Given the description of an element on the screen output the (x, y) to click on. 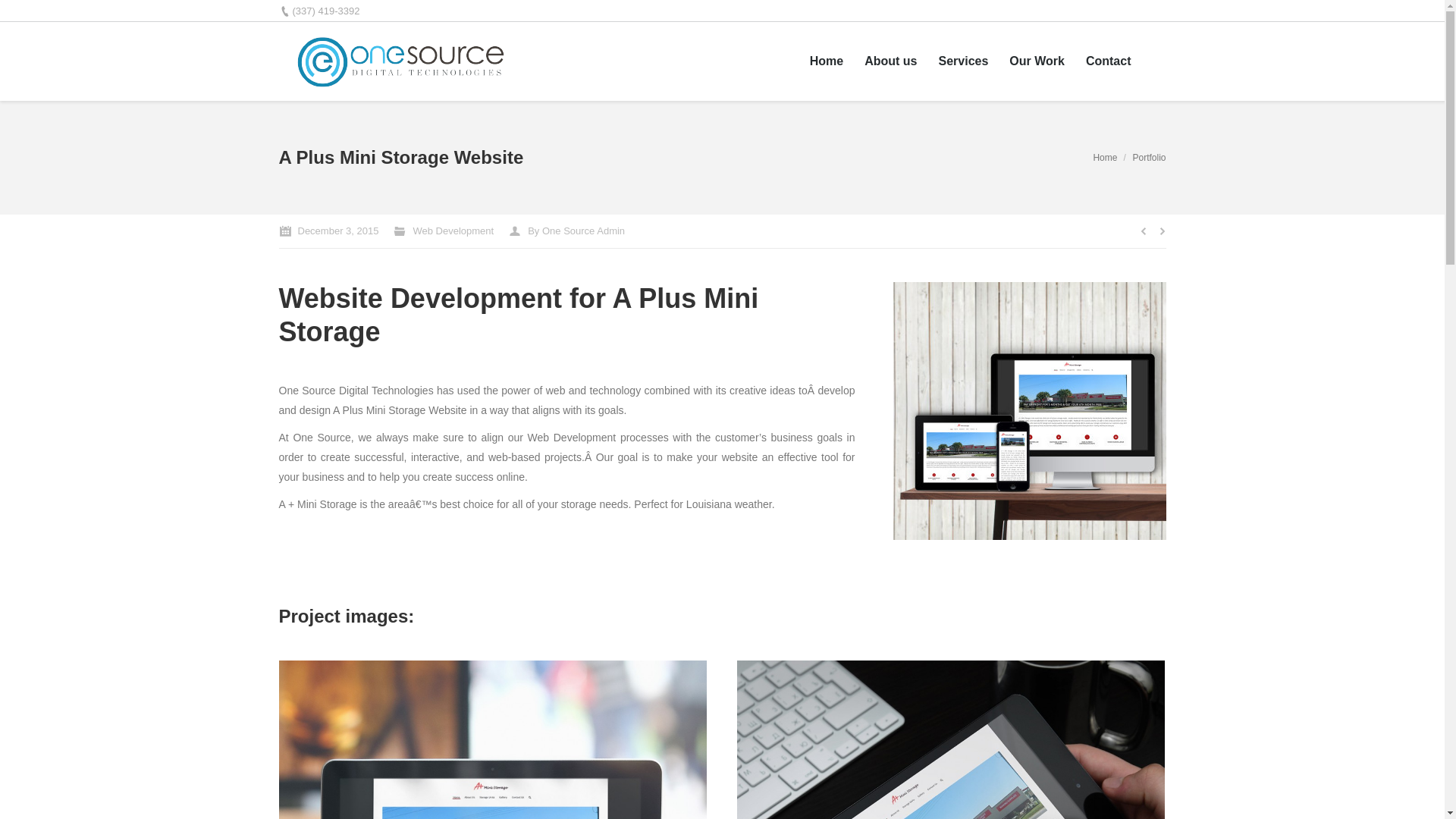
Our Work Element type: text (1036, 61)
Website Development for A Plus Mini Storage Element type: text (519, 314)
By One Source Admin Element type: text (566, 231)
Portfolio Element type: text (1148, 157)
5B Element type: hover (1029, 410)
December 3, 2015 Element type: text (329, 231)
Home Element type: text (1104, 157)
  Element type: text (1160, 60)
Go! Element type: text (19, 15)
About us Element type: text (890, 61)
Services Element type: text (963, 61)
Web Development Element type: text (452, 230)
Home Element type: text (826, 61)
Contact Element type: text (1108, 61)
